Given the description of an element on the screen output the (x, y) to click on. 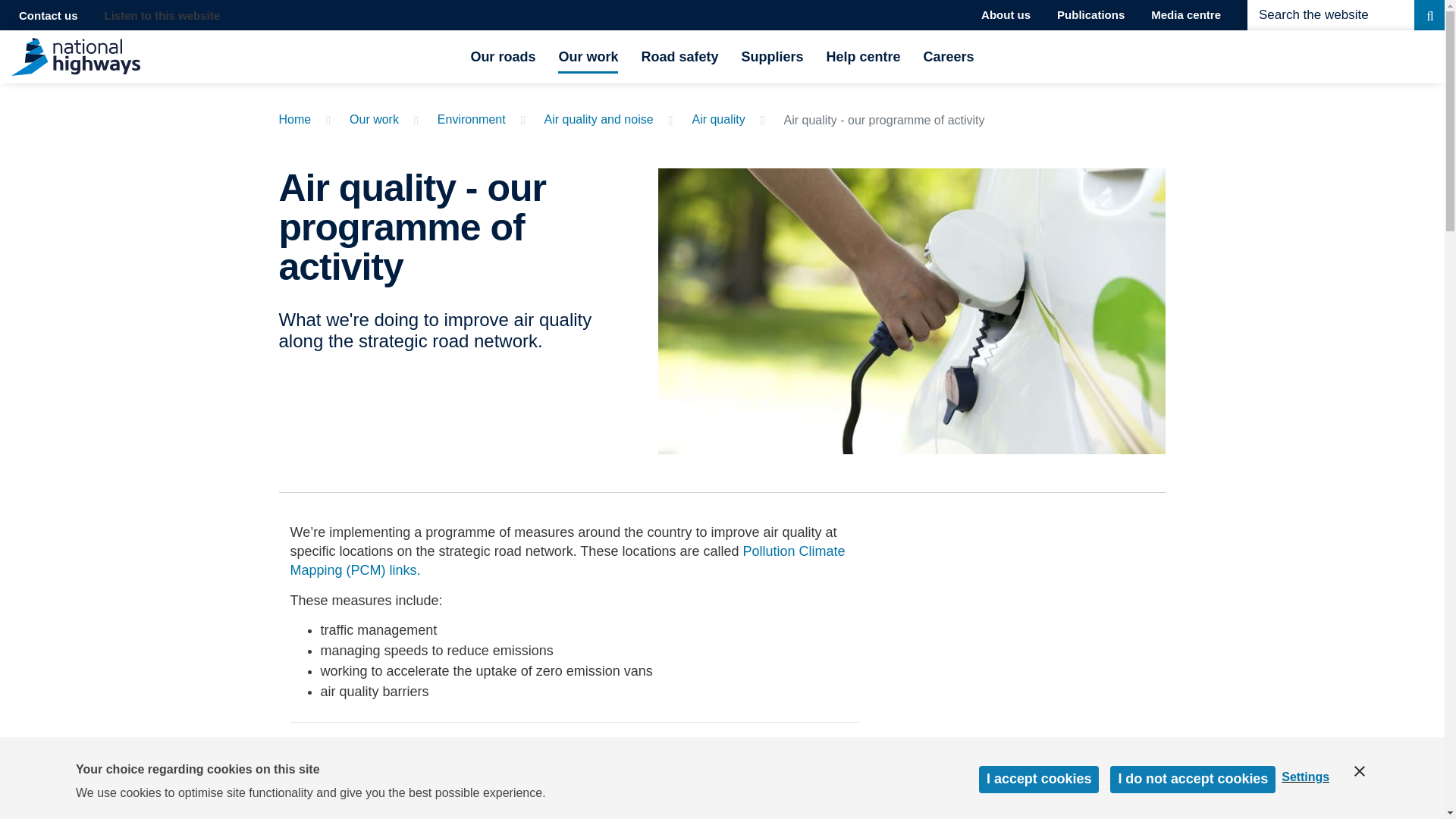
Road safety (678, 56)
Listen to this website (162, 15)
Air quality and noise (598, 119)
About us (1005, 15)
Our work (587, 56)
i do not accept cookies (1192, 812)
Air quality (717, 119)
Help centre (864, 56)
Contact us (48, 15)
Our work (373, 119)
Environment (471, 119)
Air quality (717, 119)
Media centre (1186, 15)
Air quality and noise (598, 119)
Our roads (502, 56)
